Given the description of an element on the screen output the (x, y) to click on. 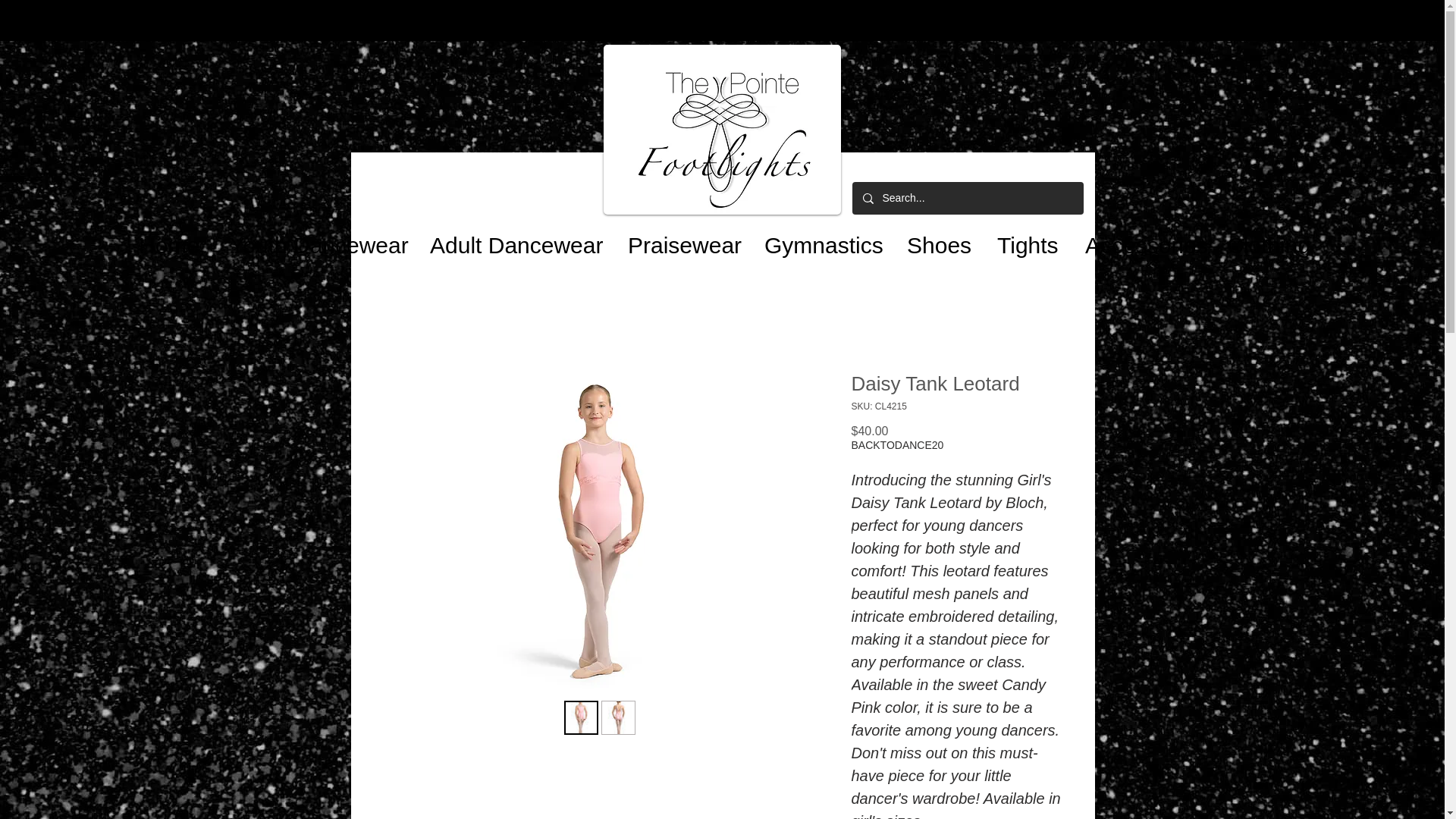
Adult Dancewear (511, 238)
Gymnastics (817, 238)
Youth Dancewear (312, 238)
Home (166, 238)
Praisewear (678, 238)
Shoes (934, 238)
